Given the description of an element on the screen output the (x, y) to click on. 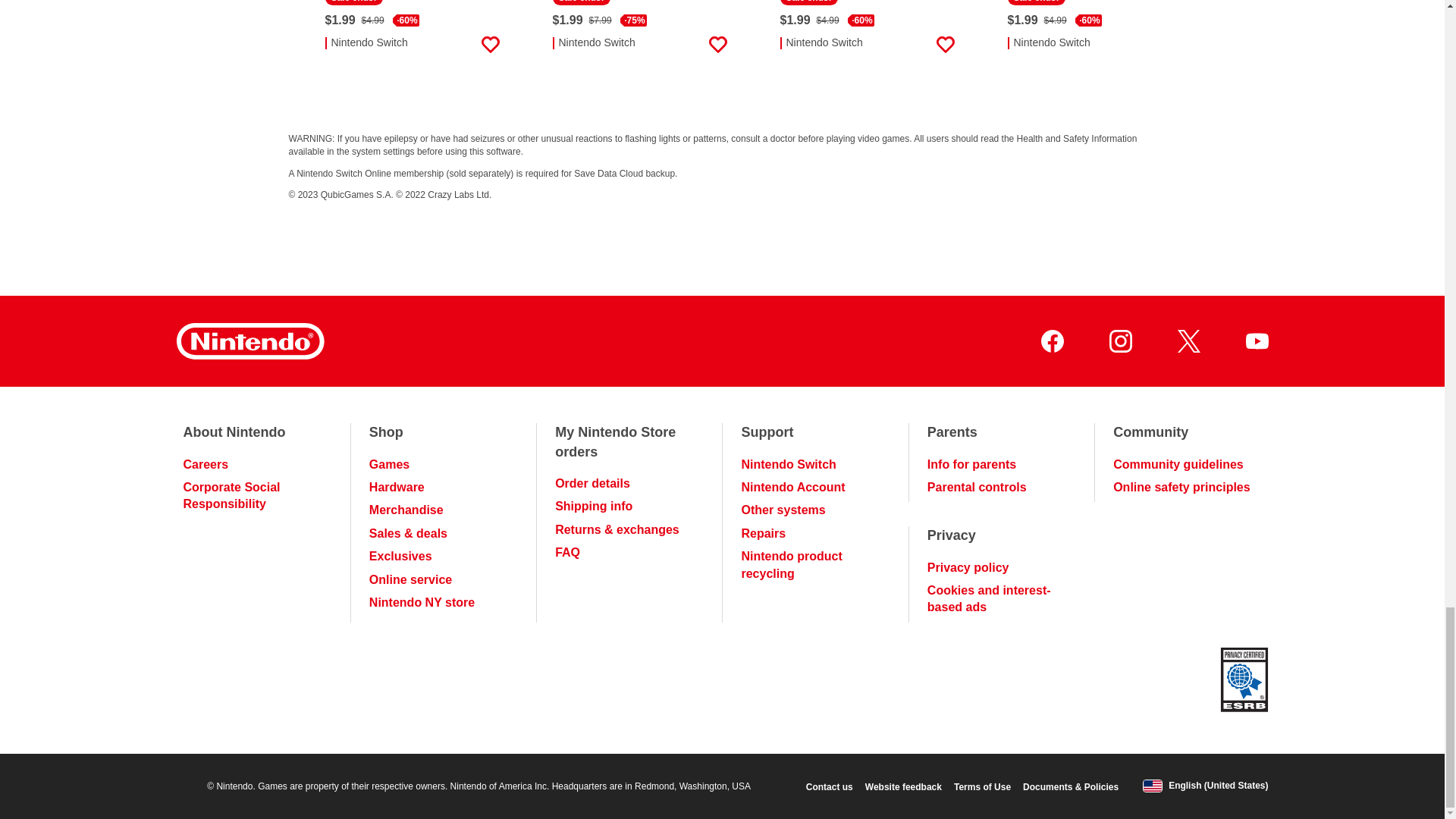
Add to Wish List (716, 44)
Add to Wish List (944, 44)
Add to Wish List (489, 44)
Nintendo Homepage (249, 340)
Nintendo on Instagram (1119, 341)
Nintendo on Facebook (1051, 341)
Add to Wish List (1172, 44)
